Given the description of an element on the screen output the (x, y) to click on. 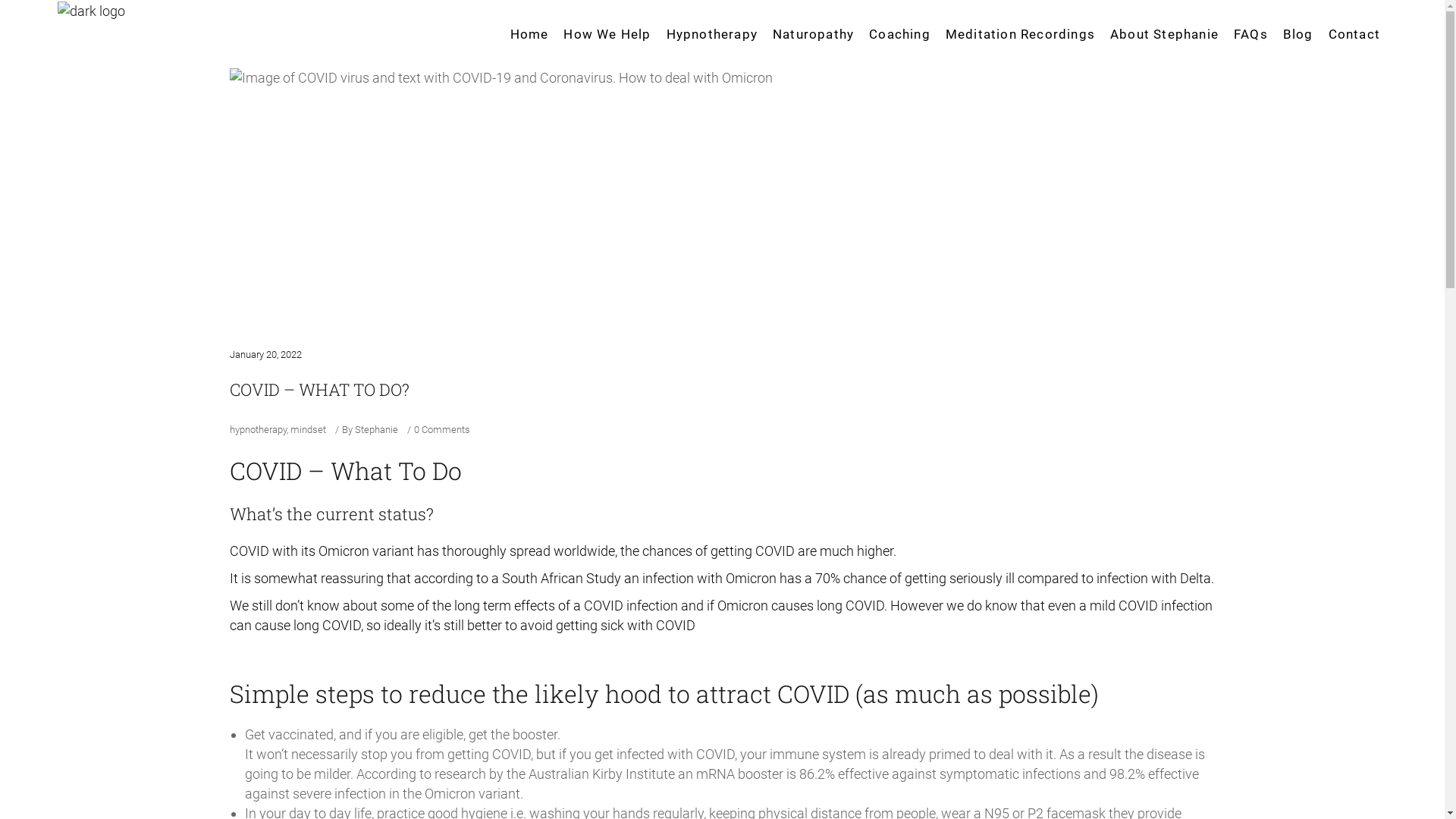
FAQs Element type: text (1250, 34)
Coaching Element type: text (899, 34)
About Stephanie Element type: text (1164, 34)
Naturopathy Element type: text (813, 34)
0 Comments Element type: text (442, 429)
Hypnotherapy Element type: text (711, 34)
hypnotherapy Element type: text (257, 429)
mindset Element type: text (307, 429)
How We Help Element type: text (606, 34)
Home Element type: text (529, 34)
Stephanie Element type: text (376, 429)
Blog Element type: text (1298, 34)
Meditation Recordings Element type: text (1020, 34)
Contact Element type: text (1354, 34)
January 20, 2022 Element type: text (265, 354)
